Given the description of an element on the screen output the (x, y) to click on. 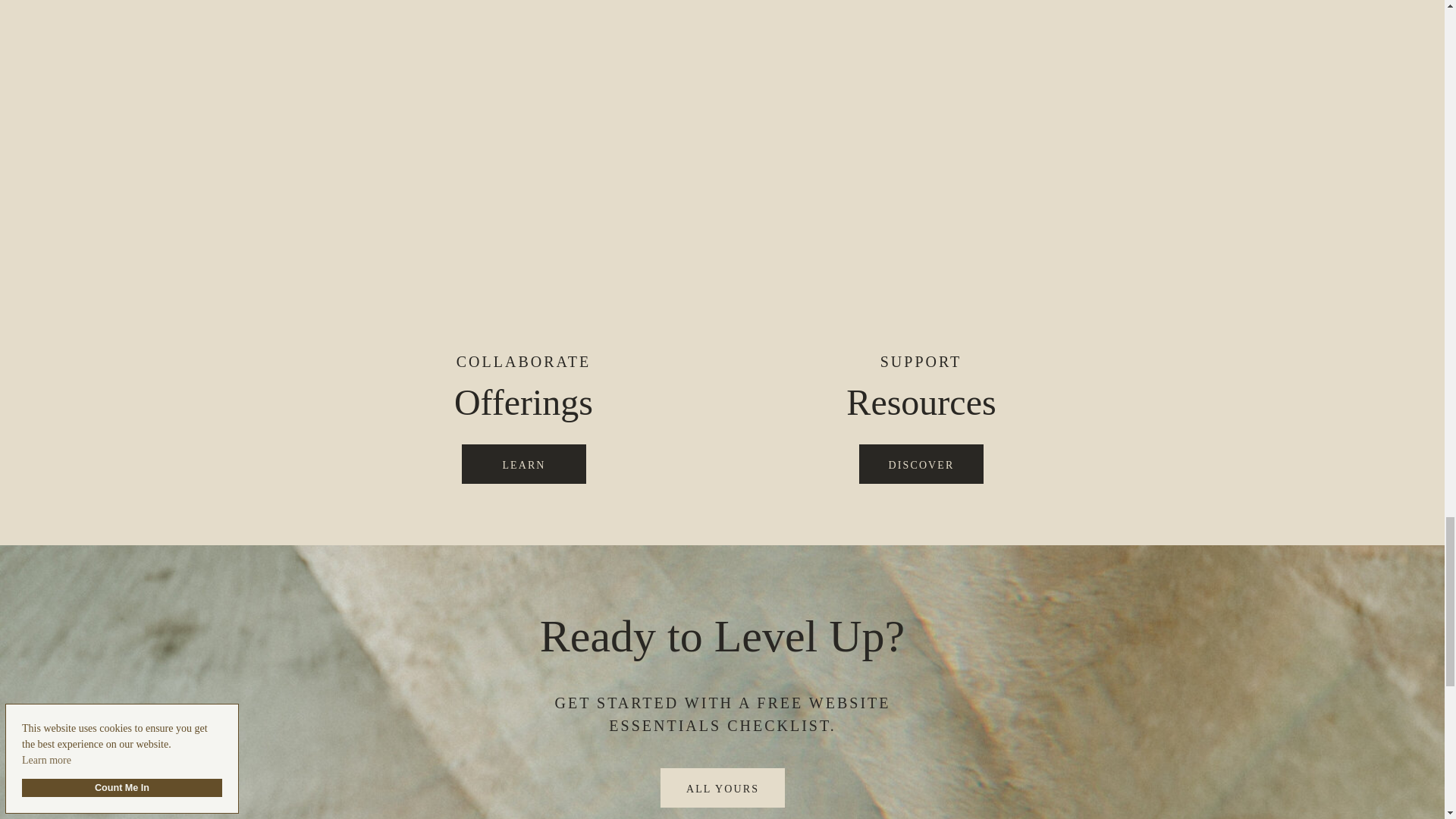
ALL YOURS (722, 788)
LEARN (524, 464)
DISCOVER (921, 464)
